Given the description of an element on the screen output the (x, y) to click on. 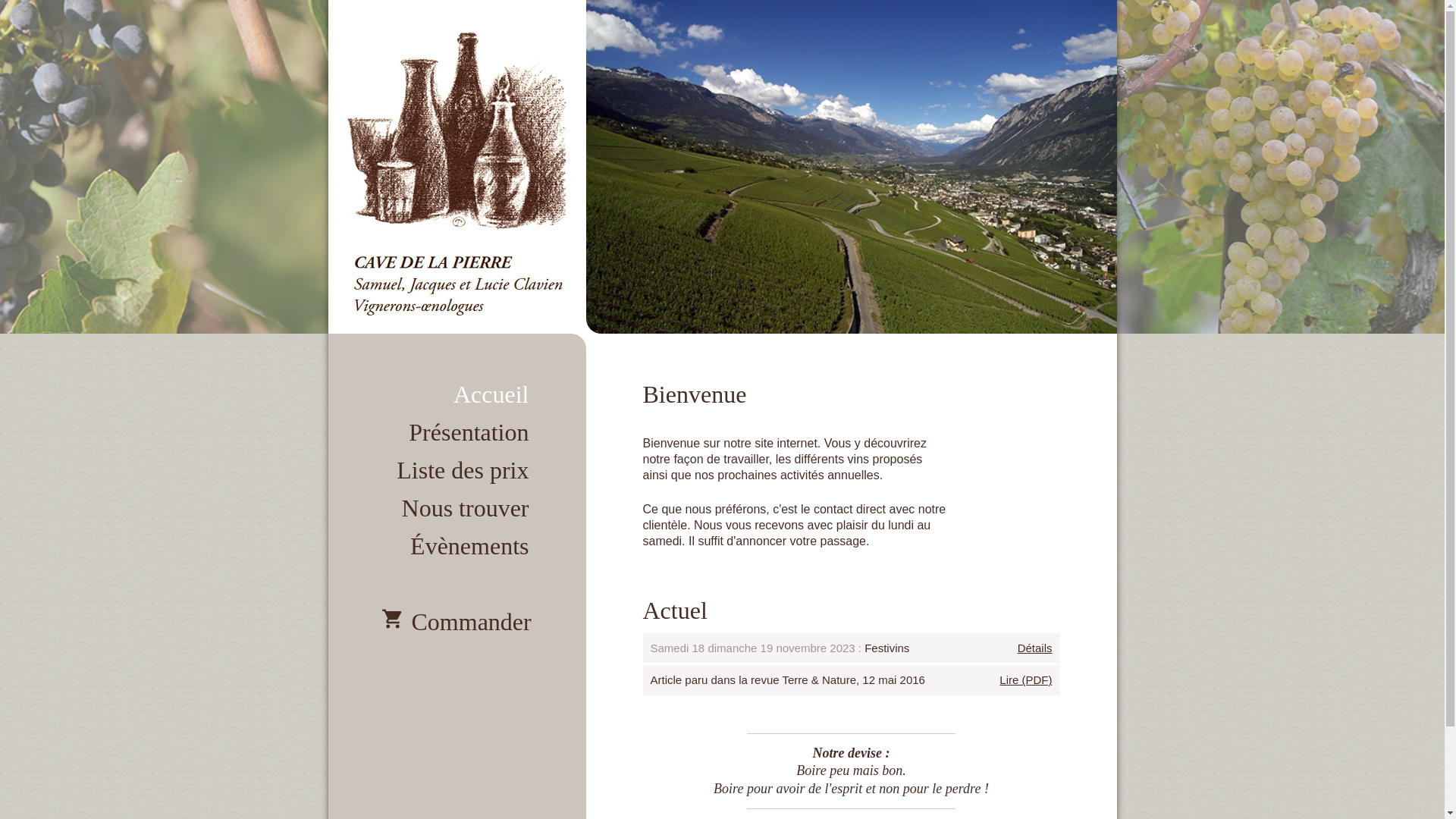
Liste des prix Element type: text (456, 466)
Commander Element type: text (456, 618)
Nous trouver Element type: text (456, 504)
Accueil Element type: text (456, 390)
